Given the description of an element on the screen output the (x, y) to click on. 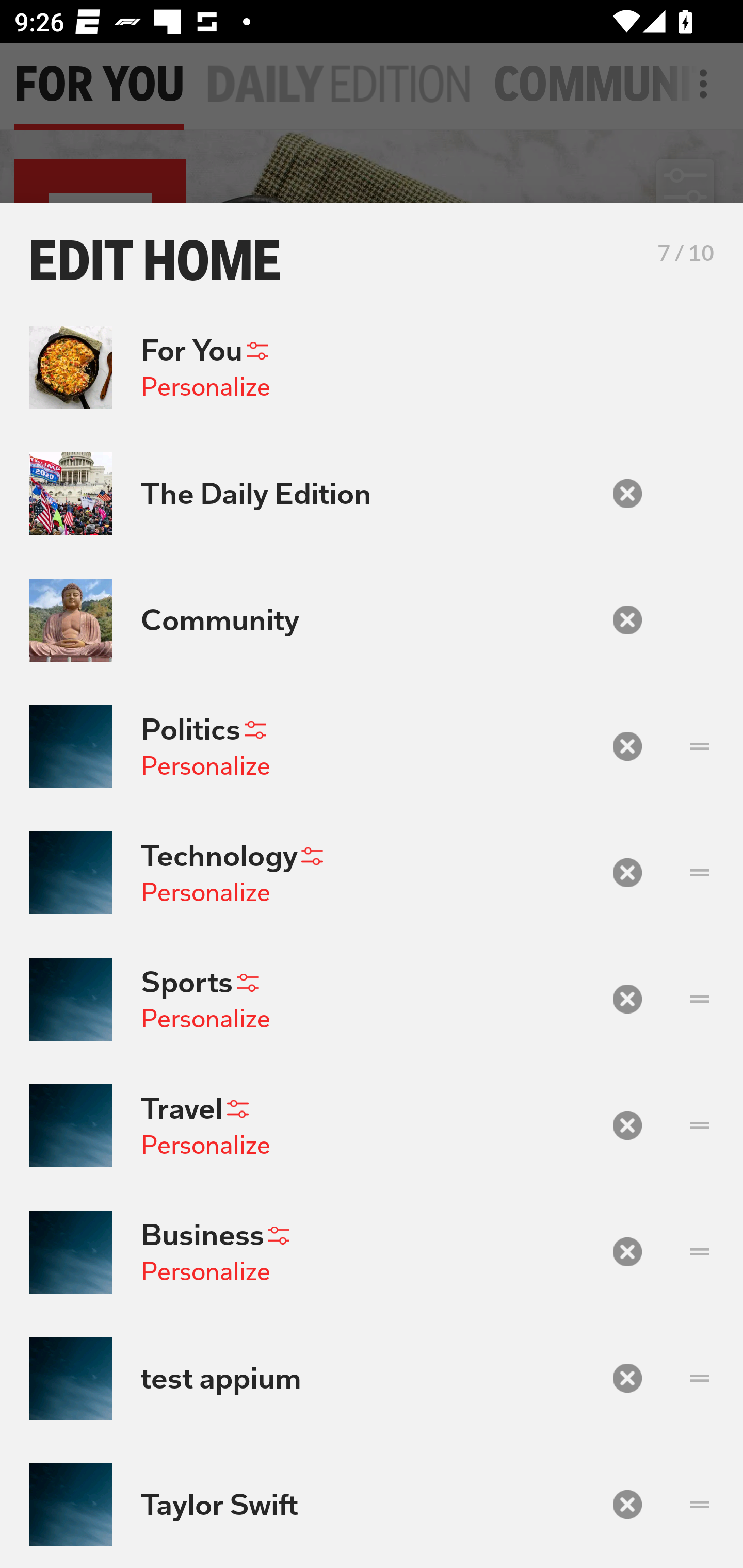
Personalize (205, 387)
Personalize (205, 765)
Personalize (205, 891)
Personalize (205, 1018)
Personalize (205, 1144)
Personalize (205, 1271)
